Given the description of an element on the screen output the (x, y) to click on. 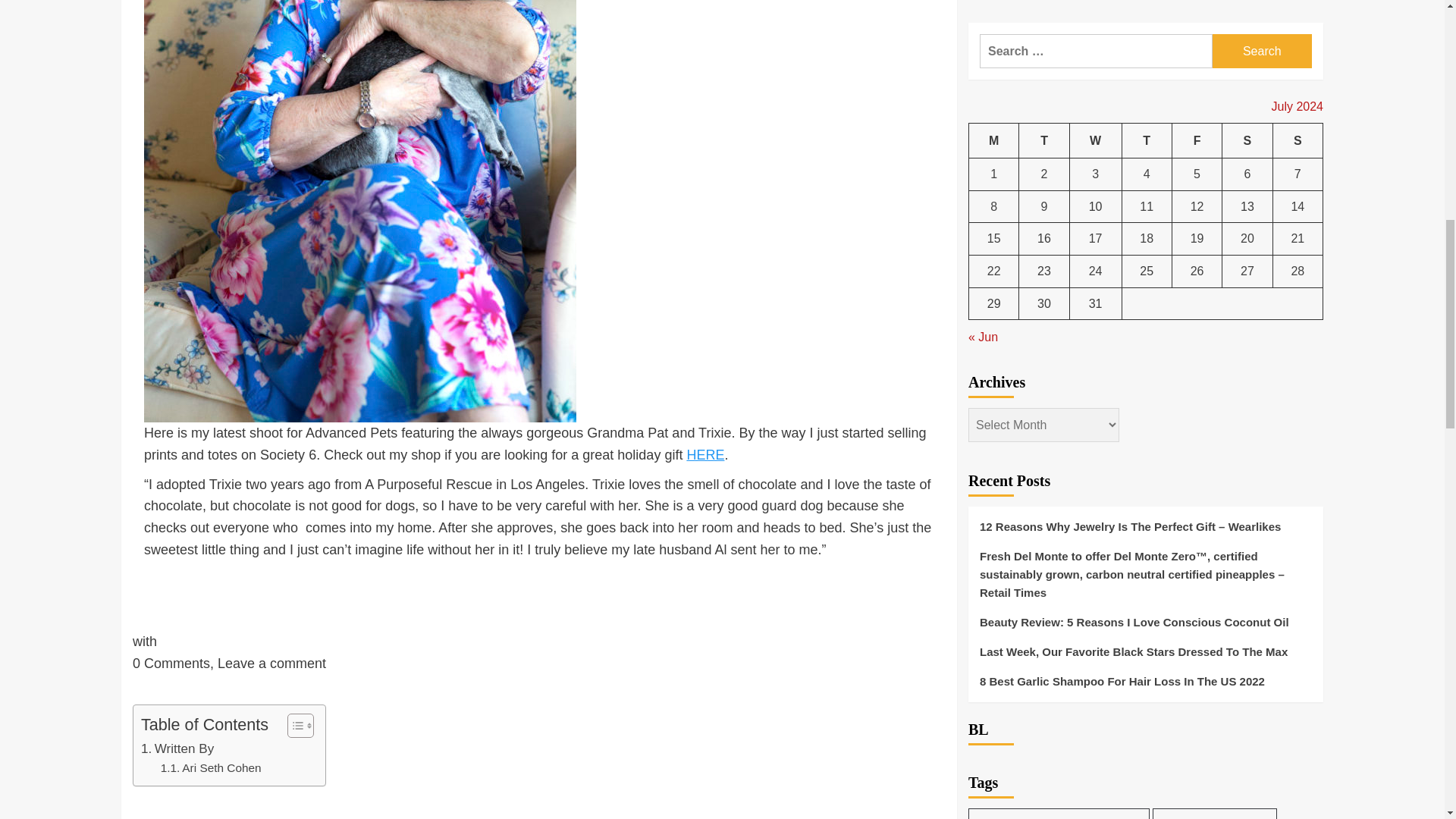
HERE (704, 454)
Written By (177, 748)
Written By (177, 748)
Ari Seth Cohen (211, 768)
Ari Seth Cohen (211, 768)
